Given the description of an element on the screen output the (x, y) to click on. 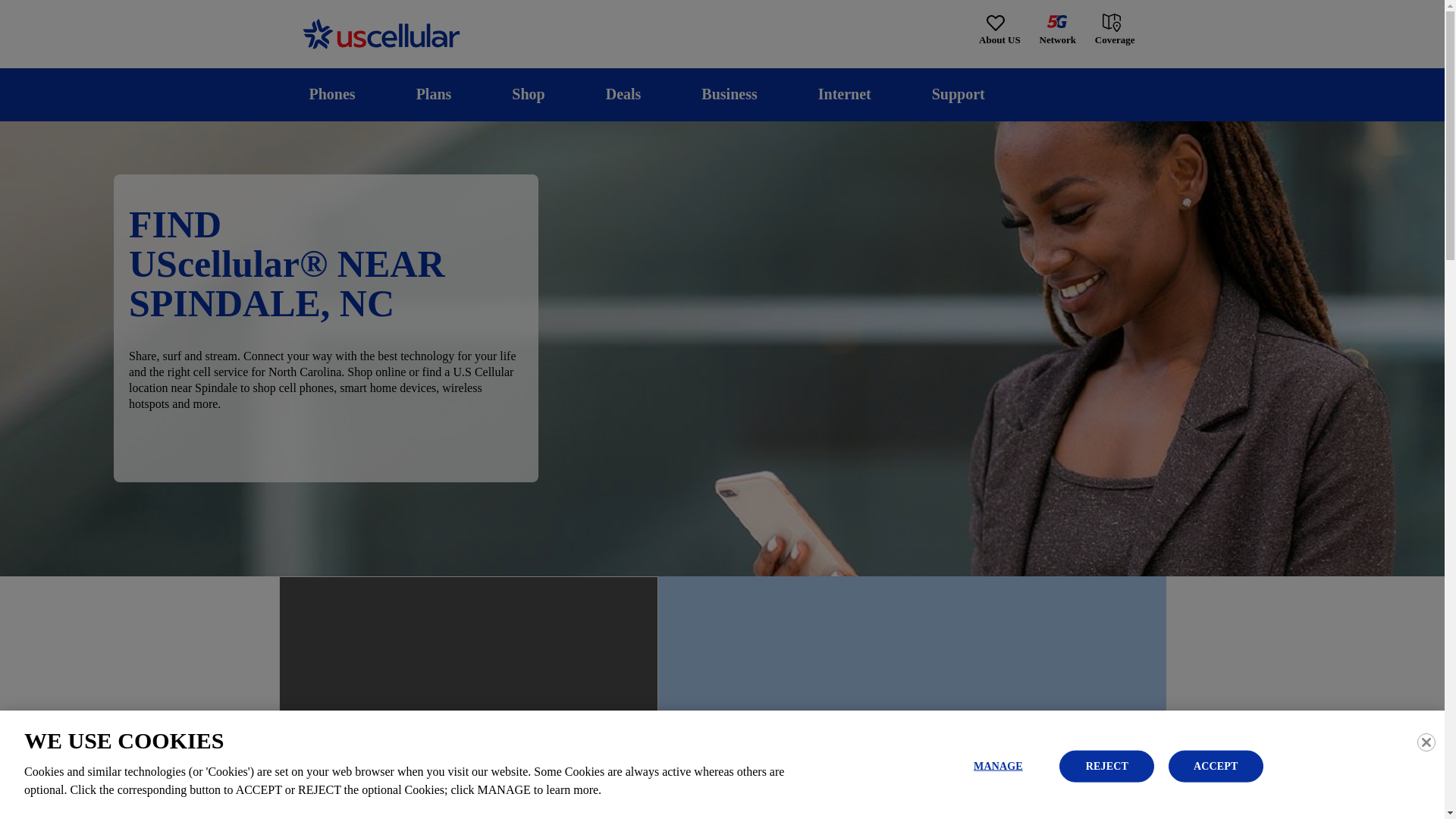
Network (1057, 30)
Phones (332, 94)
Shop (528, 94)
About US (999, 30)
Deals (623, 94)
Support (957, 94)
Coverage (1115, 29)
Plans (433, 94)
Business (729, 94)
Internet (844, 94)
